Given the description of an element on the screen output the (x, y) to click on. 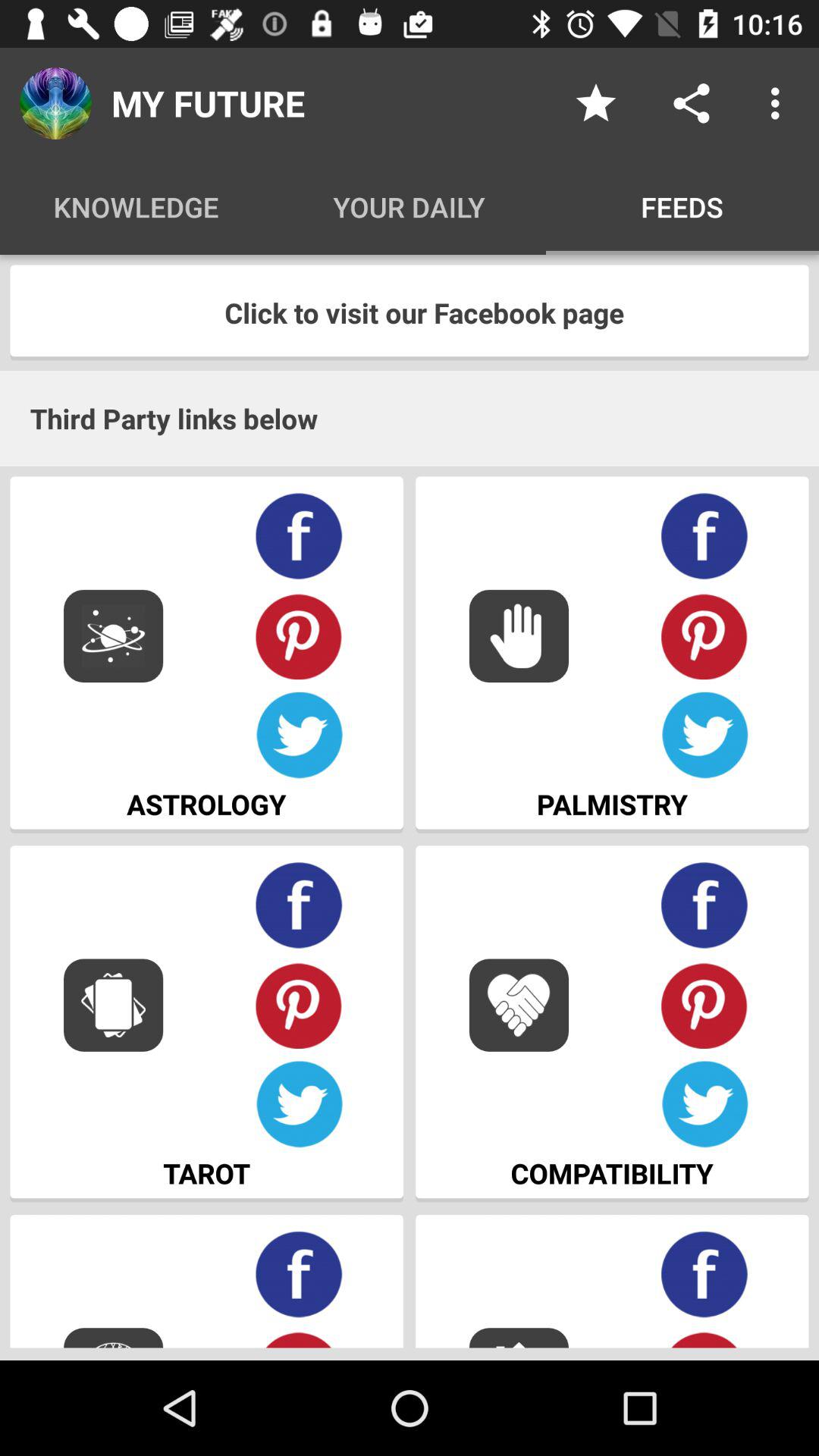
share on facebook (704, 1274)
